Given the description of an element on the screen output the (x, y) to click on. 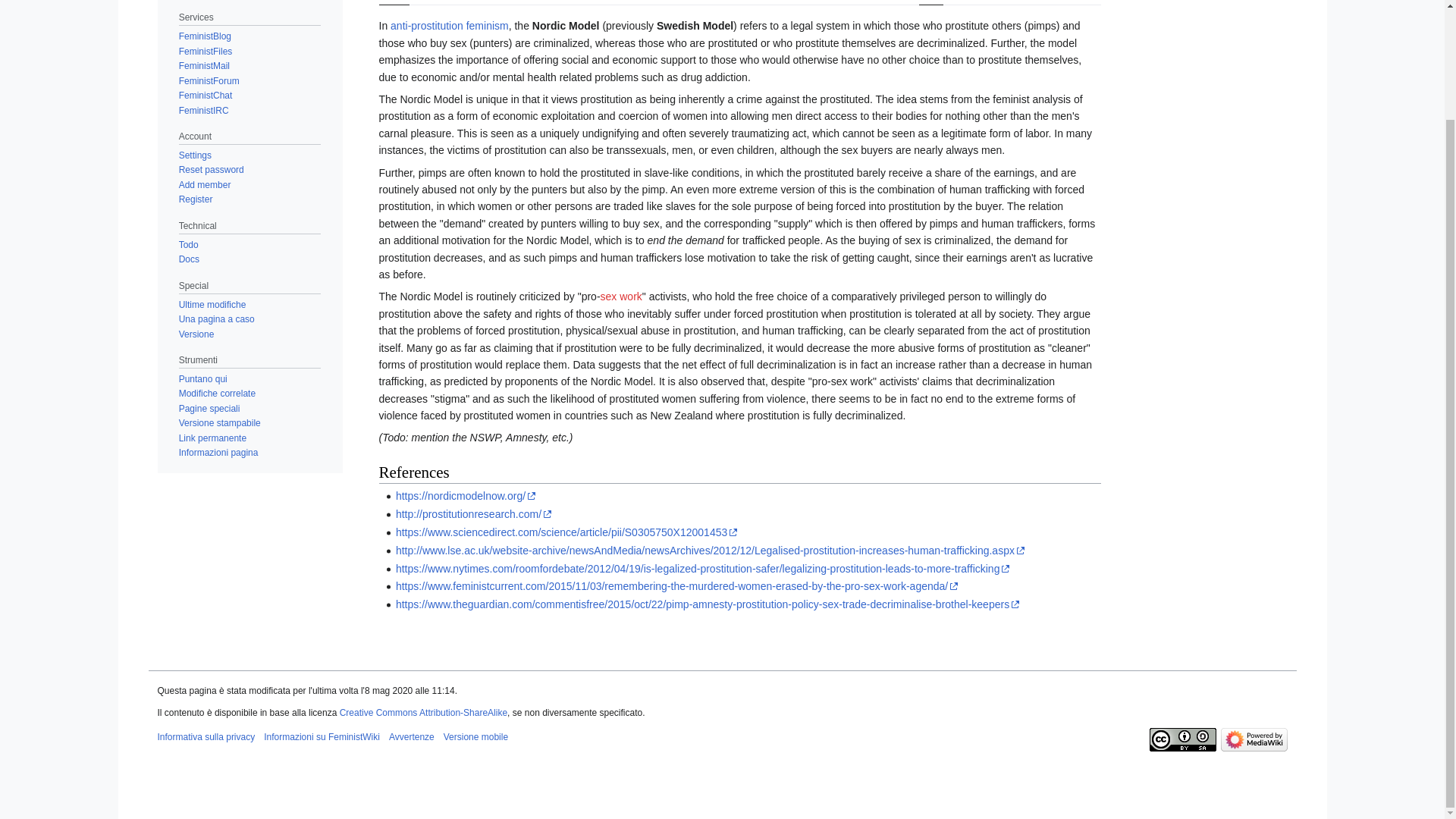
Informazioni pagina (219, 452)
Ulteriori informazioni su questa pagina (219, 452)
FeministForum (209, 81)
Modifiche correlate (217, 393)
Visualizza sorgente (998, 2)
Pagina (393, 2)
Leggi (930, 2)
Link permanente (212, 438)
Register (195, 199)
Cronologia (1076, 2)
Add member (205, 184)
FeministFiles (205, 50)
Reset password (211, 169)
FeministMail (204, 65)
FeministChat (205, 95)
